Given the description of an element on the screen output the (x, y) to click on. 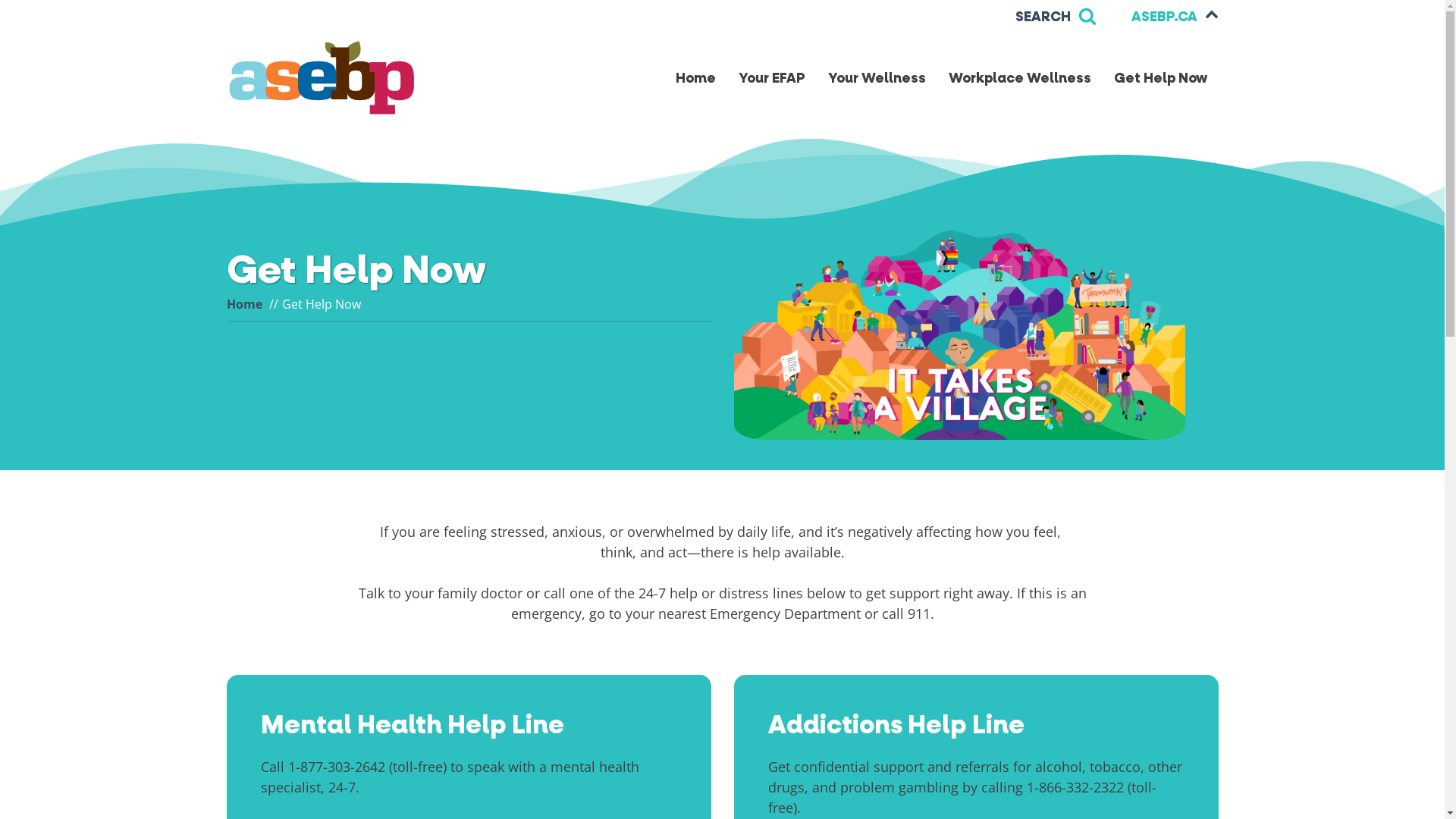
Home Element type: text (243, 303)
Workplace Wellness Element type: text (1019, 78)
Get Help Now Element type: text (1160, 78)
Home Element type: text (695, 78)
SEARCH Element type: text (1055, 17)
Your EFAP Element type: text (770, 78)
ASEBP.CA Element type: text (1174, 16)
Your Wellness Element type: text (875, 78)
Search Element type: text (27, 10)
